Given the description of an element on the screen output the (x, y) to click on. 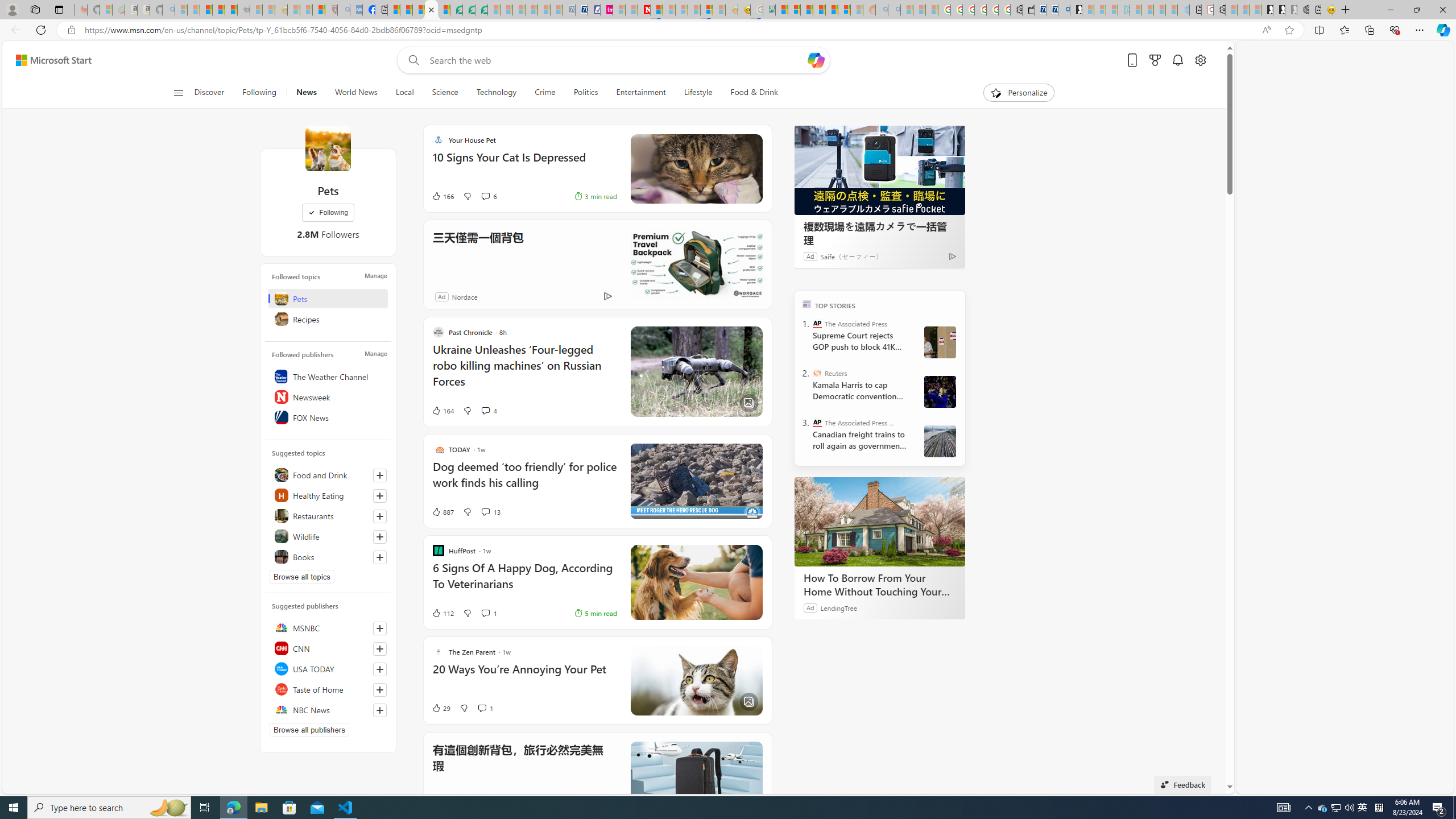
 Harris and Walz campaign in Wisconsin (940, 391)
LendingTree - Compare Lenders (456, 9)
MSNBC (327, 627)
Browse all publishers (309, 729)
New Report Confirms 2023 Was Record Hot | Watch (230, 9)
View comments 1 Comment (481, 708)
